Given the description of an element on the screen output the (x, y) to click on. 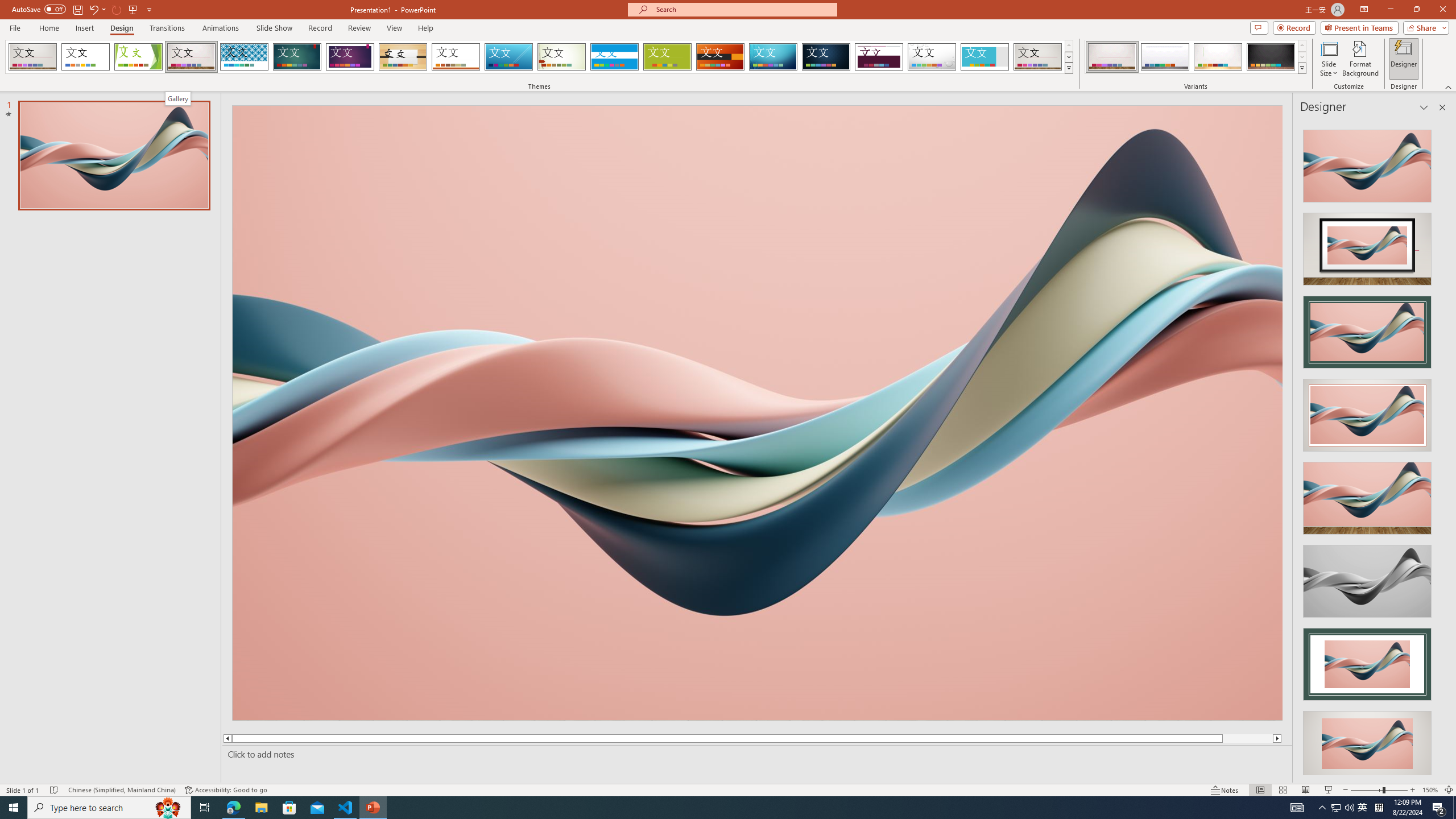
Gallery (177, 98)
AutomationID: SlideThemesGallery (539, 56)
Wisp (561, 56)
Gallery Variant 1 (1112, 56)
